Given the description of an element on the screen output the (x, y) to click on. 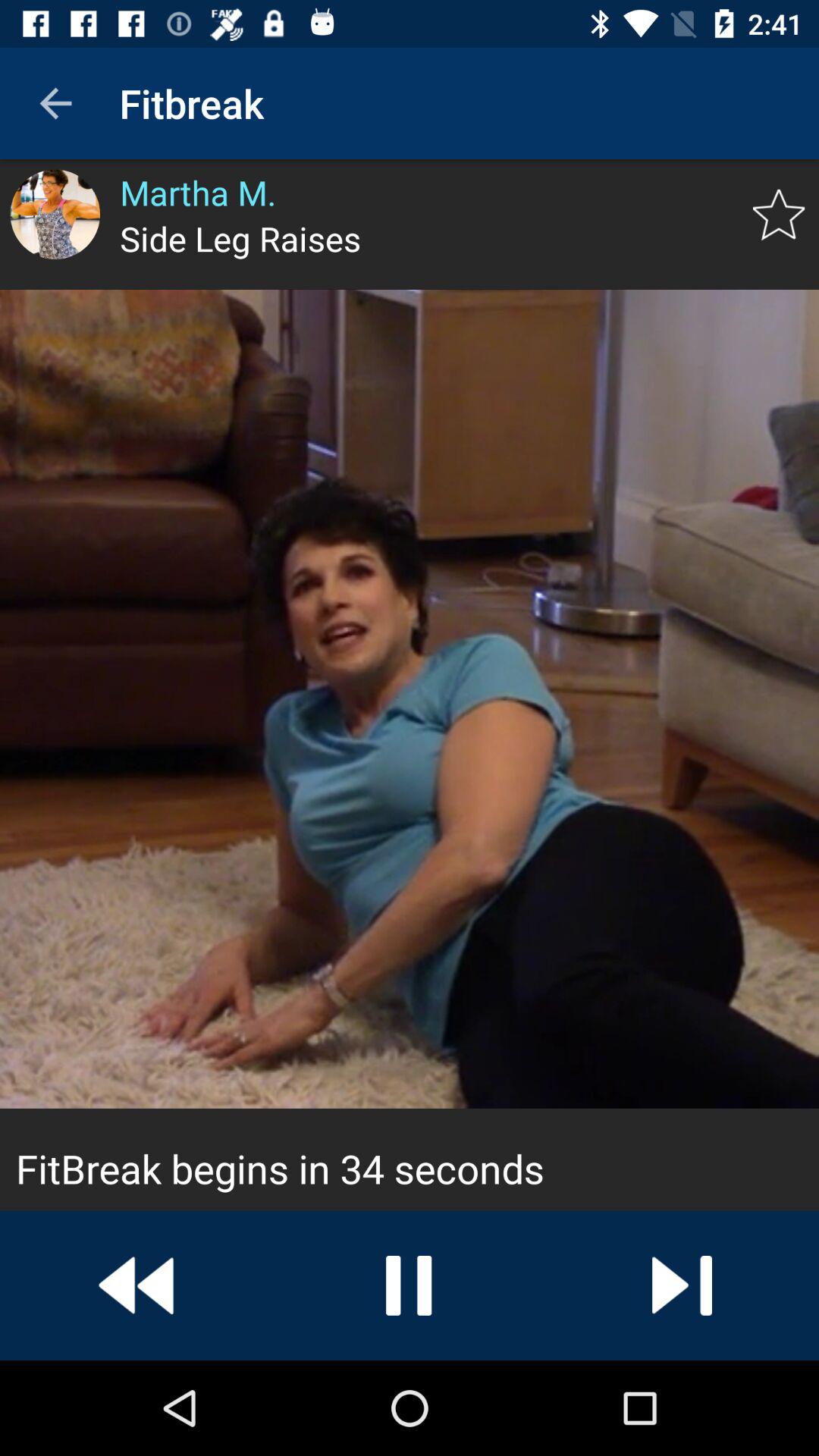
launch the icon at the top right corner (778, 215)
